Given the description of an element on the screen output the (x, y) to click on. 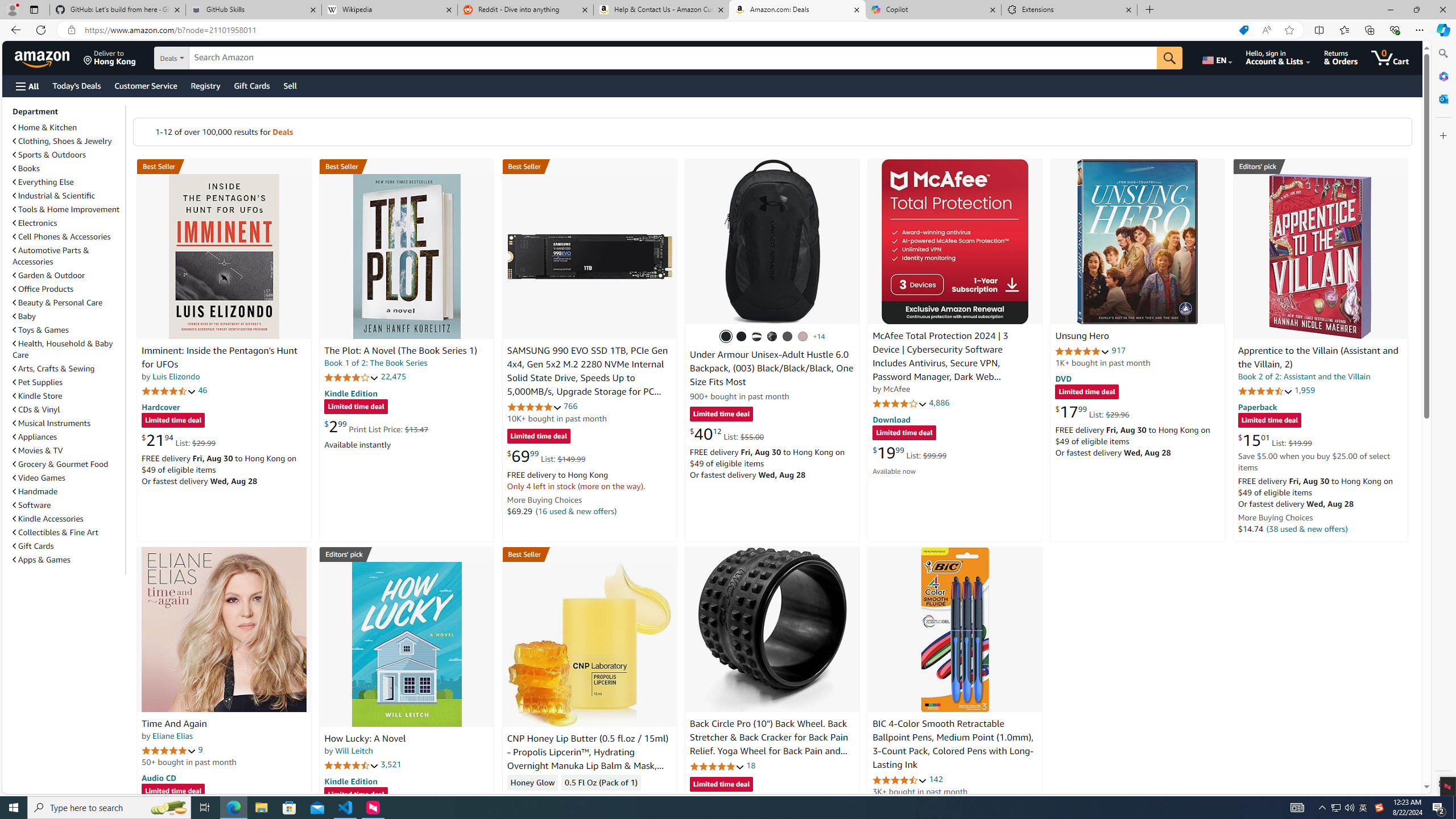
Books (67, 167)
Unsung Hero (1082, 336)
4.9 out of 5 stars (1082, 351)
Favorites (1344, 29)
Automotive Parts & Accessories (50, 255)
(015) Tetra Gray / Tetra Gray / Gray Matter (802, 336)
Garden & Outdoor (67, 274)
Kindle Store (37, 395)
4,886 (938, 402)
9 (200, 749)
Home & Kitchen (45, 127)
Download (891, 419)
Sports & Outdoors (67, 154)
